Given the description of an element on the screen output the (x, y) to click on. 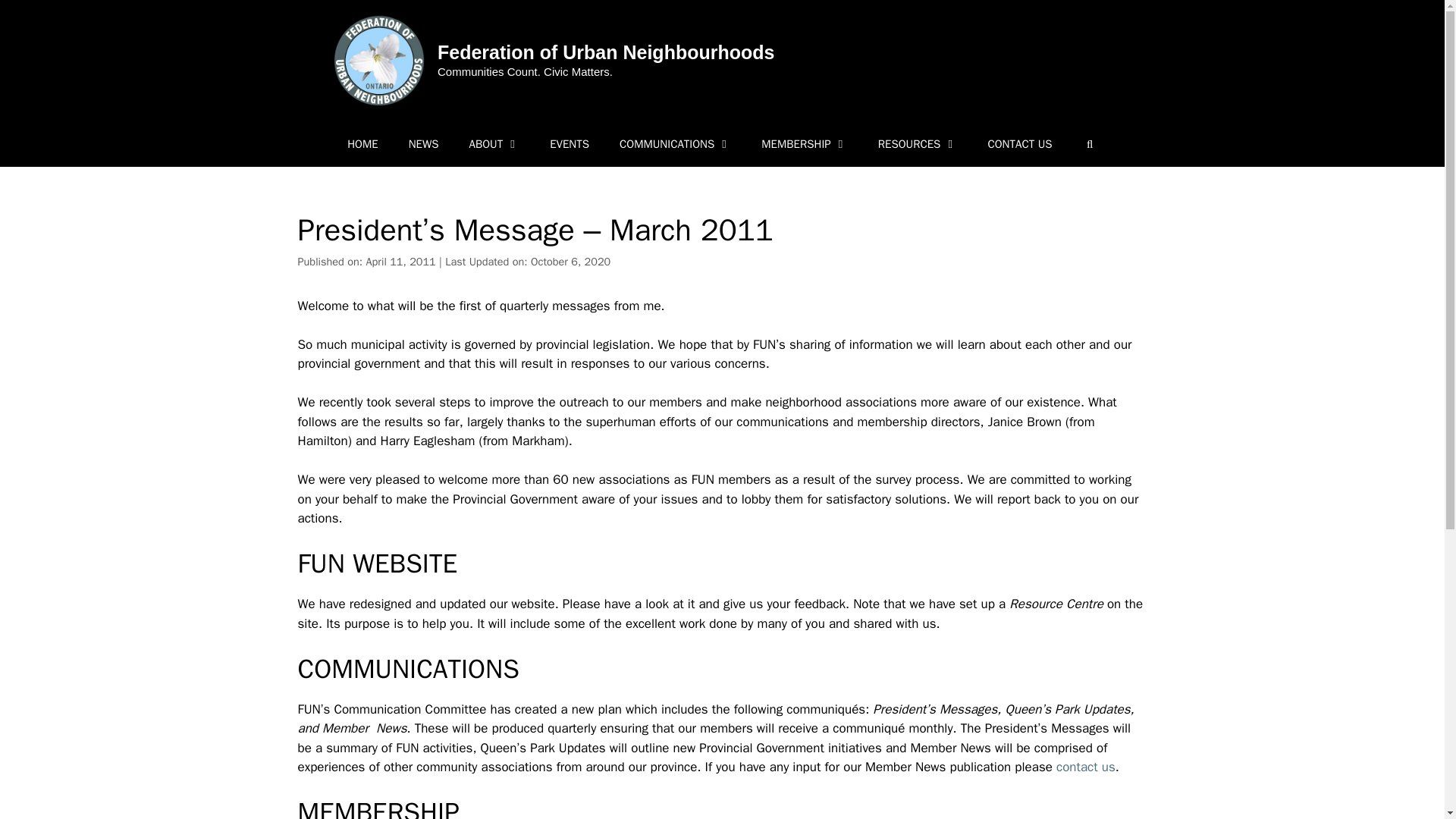
ABOUT (493, 144)
HOME (362, 144)
Federation of Urban Neighbourhoods (606, 52)
EVENTS (569, 144)
NEWS (423, 144)
